Given the description of an element on the screen output the (x, y) to click on. 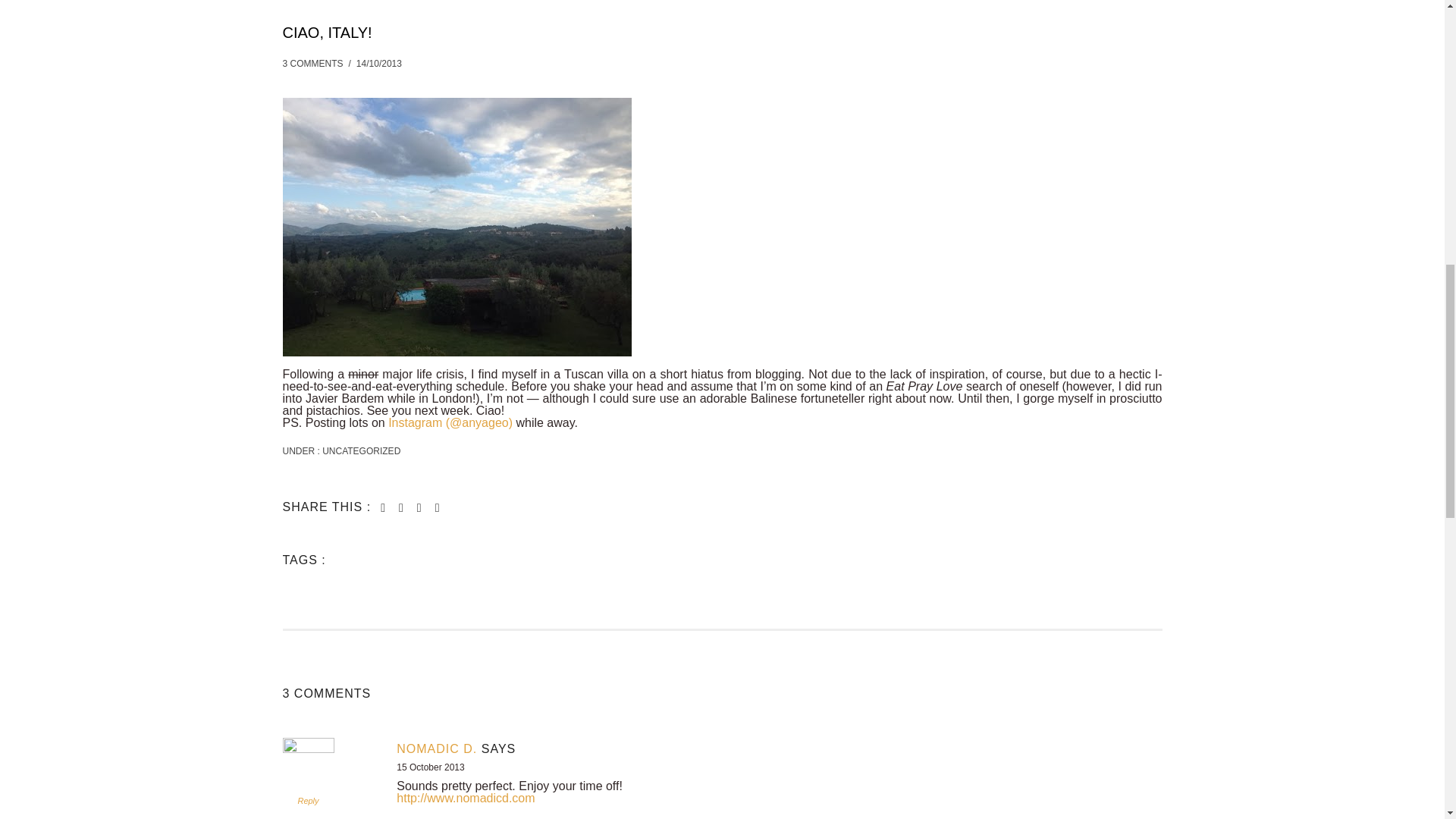
3 COMMENTS (312, 63)
UNCATEGORIZED (360, 450)
CIAO, ITALY! (326, 32)
Reply (307, 800)
NOMADIC D. (436, 748)
View all posts in Uncategorized (360, 450)
